Given the description of an element on the screen output the (x, y) to click on. 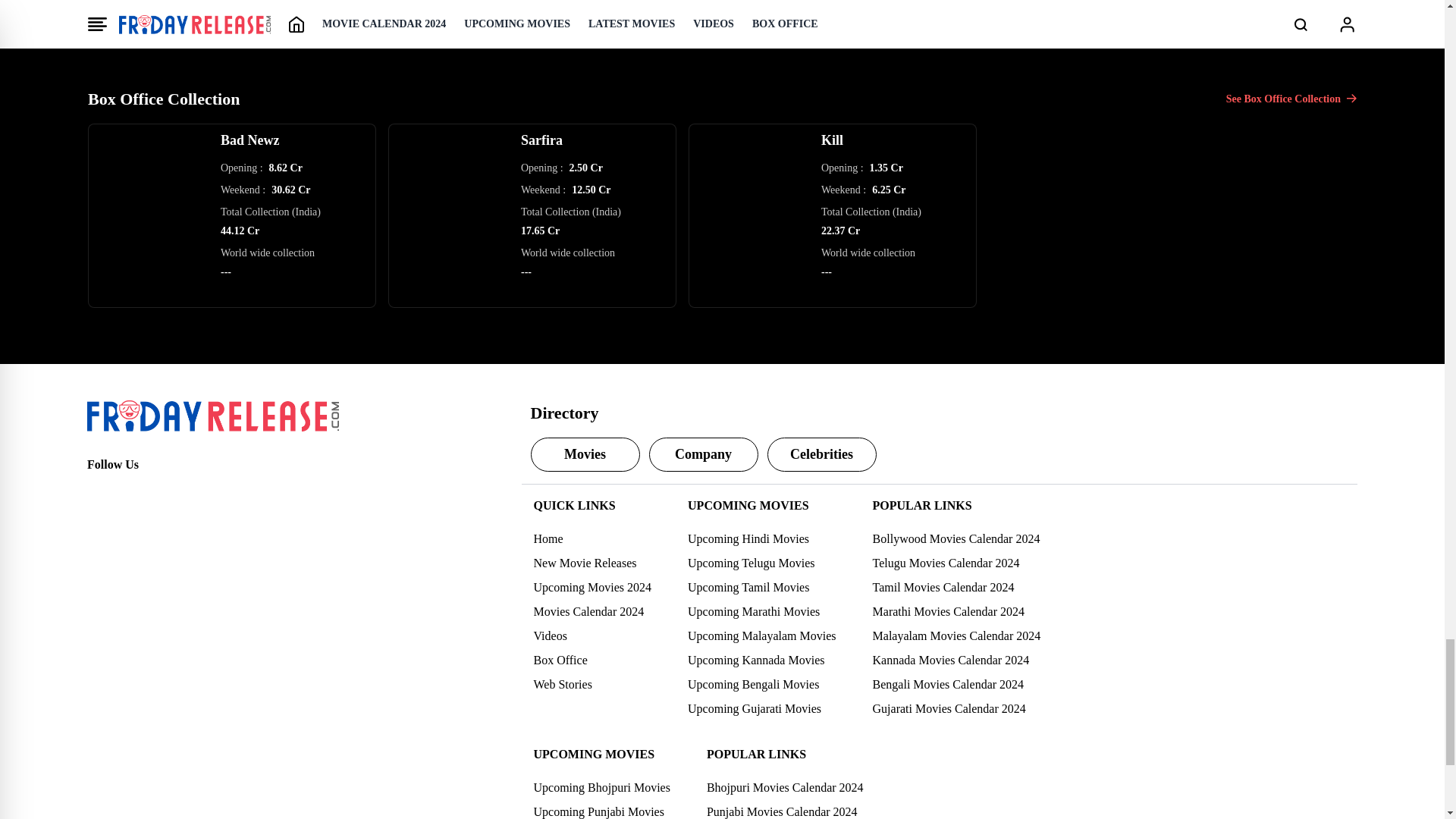
Youtube Page (199, 491)
Instagram Page (165, 491)
Facebook Page (99, 491)
Twitter Page (132, 491)
